Given the description of an element on the screen output the (x, y) to click on. 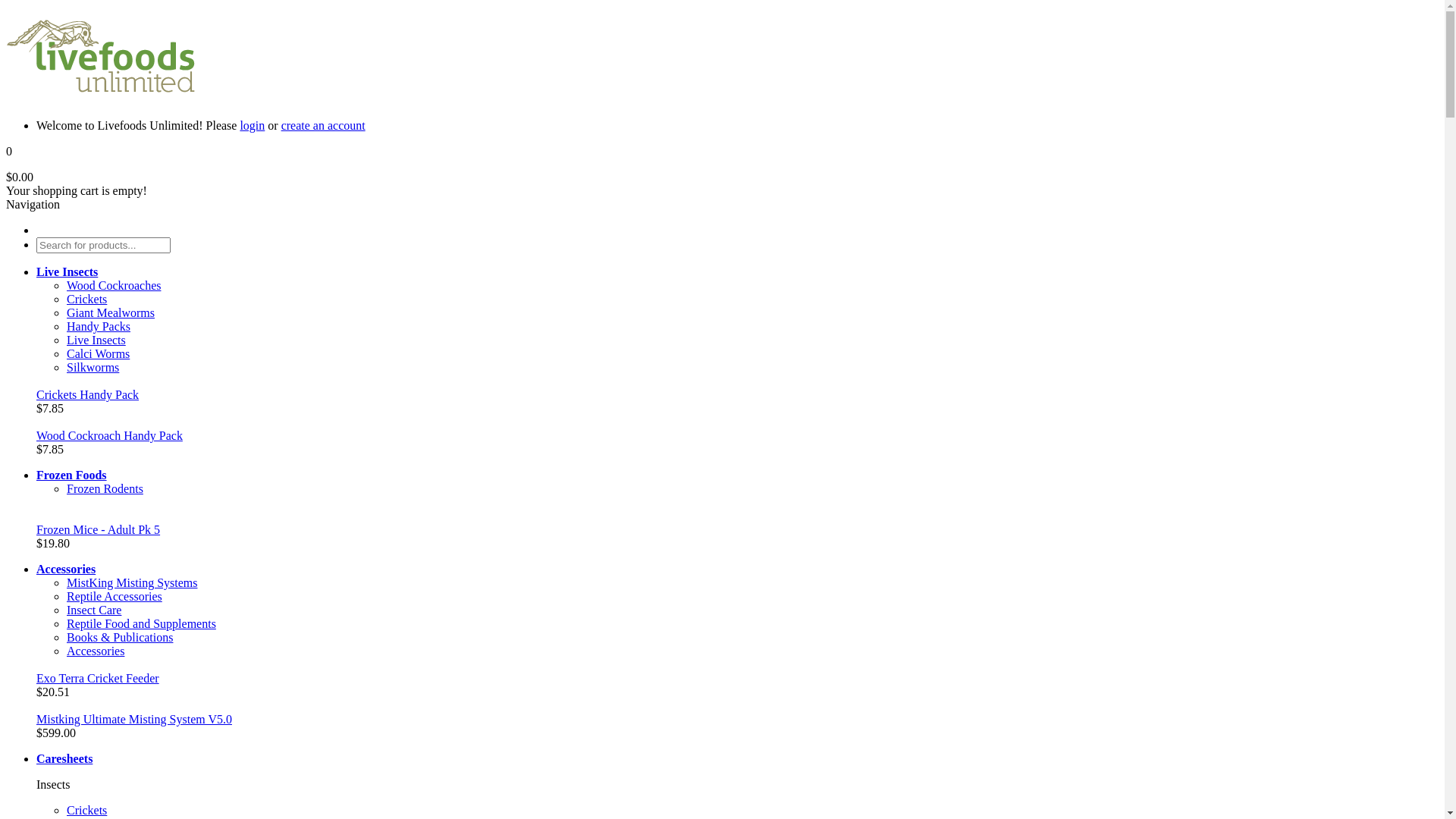
Wood Cockroaches Element type: text (113, 285)
Calci Worms Element type: text (97, 353)
Wood Cockroach Handy Pack Element type: text (109, 435)
Frozen Foods Element type: text (71, 474)
Frozen Rodents Element type: text (104, 488)
Crickets Handy Pack Element type: text (87, 394)
Insect Care Element type: text (93, 609)
Accessories Element type: text (95, 650)
Silkworms Element type: text (92, 366)
Accessories Element type: text (65, 568)
Live Insects Element type: text (66, 271)
Giant Mealworms Element type: text (110, 312)
Reptile Accessories Element type: text (114, 595)
Frozen Mice - Adult Pk 5 Element type: text (98, 529)
create an account Element type: text (323, 125)
Live Insects Element type: text (95, 339)
Reptile Food and Supplements Element type: text (141, 623)
Mistking Ultimate Misting System V5.0 Element type: text (134, 718)
Books & Publications Element type: text (119, 636)
Crickets Element type: text (86, 298)
Handy Packs Element type: text (98, 326)
MistKing Misting Systems Element type: text (131, 582)
Crickets Element type: text (86, 809)
Caresheets Element type: text (64, 758)
Exo Terra Cricket Feeder Element type: text (97, 677)
login Element type: text (251, 125)
Livefoods Unlimited Element type: hover (100, 55)
